Given the description of an element on the screen output the (x, y) to click on. 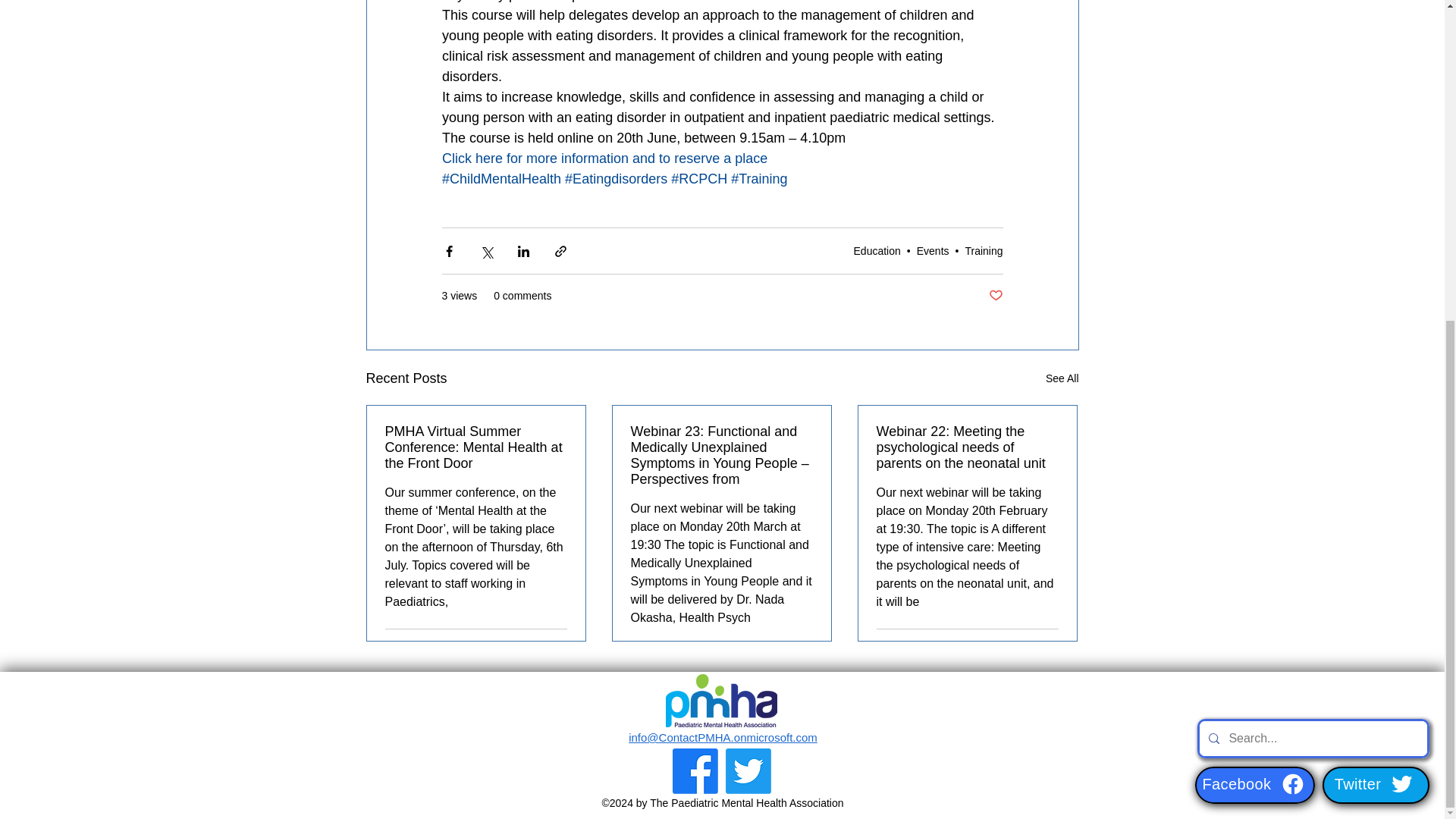
See All (1061, 378)
Education (877, 250)
Post not marked as liked (995, 295)
Events (933, 250)
Training (983, 250)
Click here for more information and to reserve a place (604, 158)
